Given the description of an element on the screen output the (x, y) to click on. 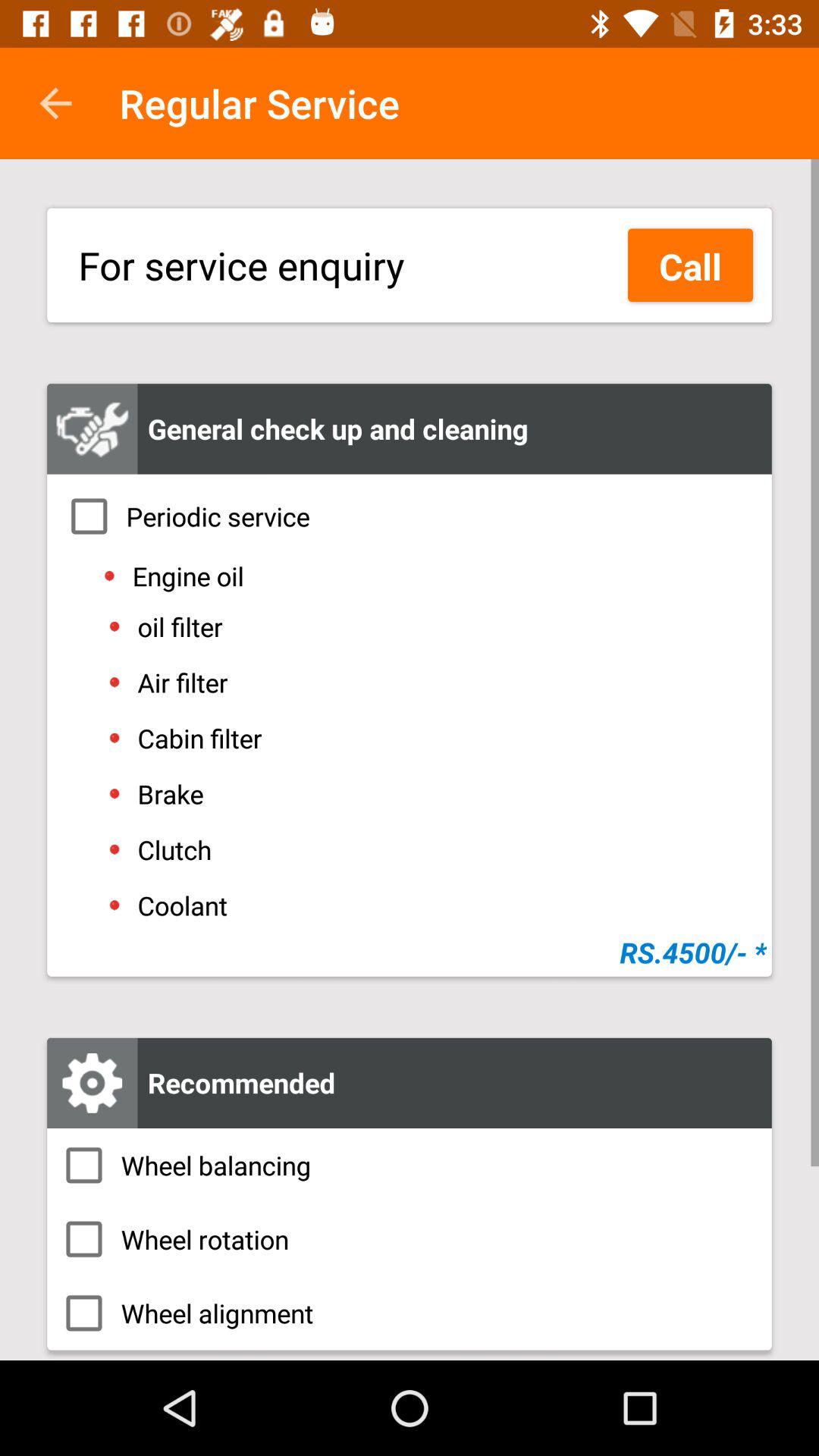
press wheel alignment (409, 1313)
